Given the description of an element on the screen output the (x, y) to click on. 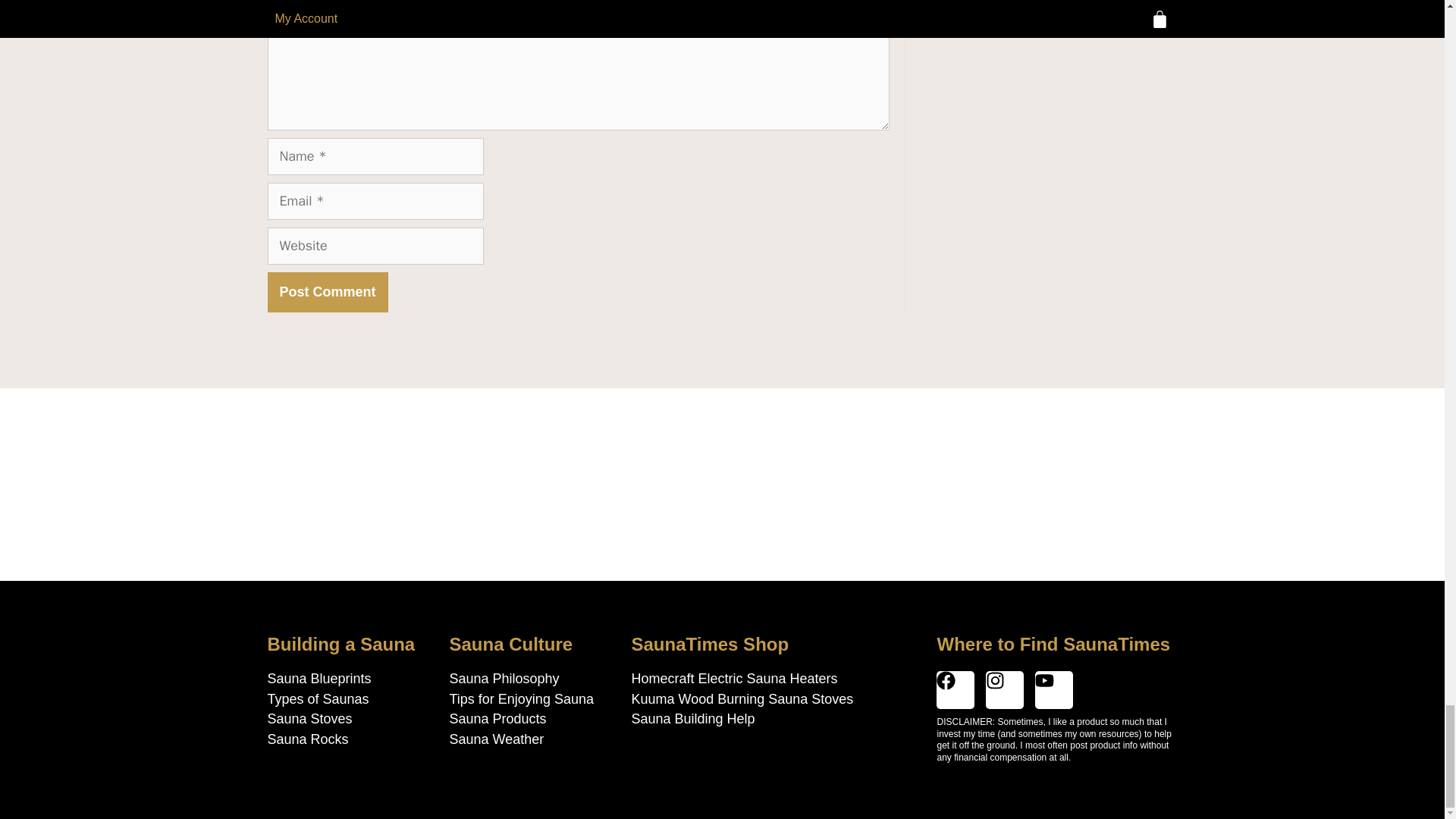
Post Comment (326, 291)
